Given the description of an element on the screen output the (x, y) to click on. 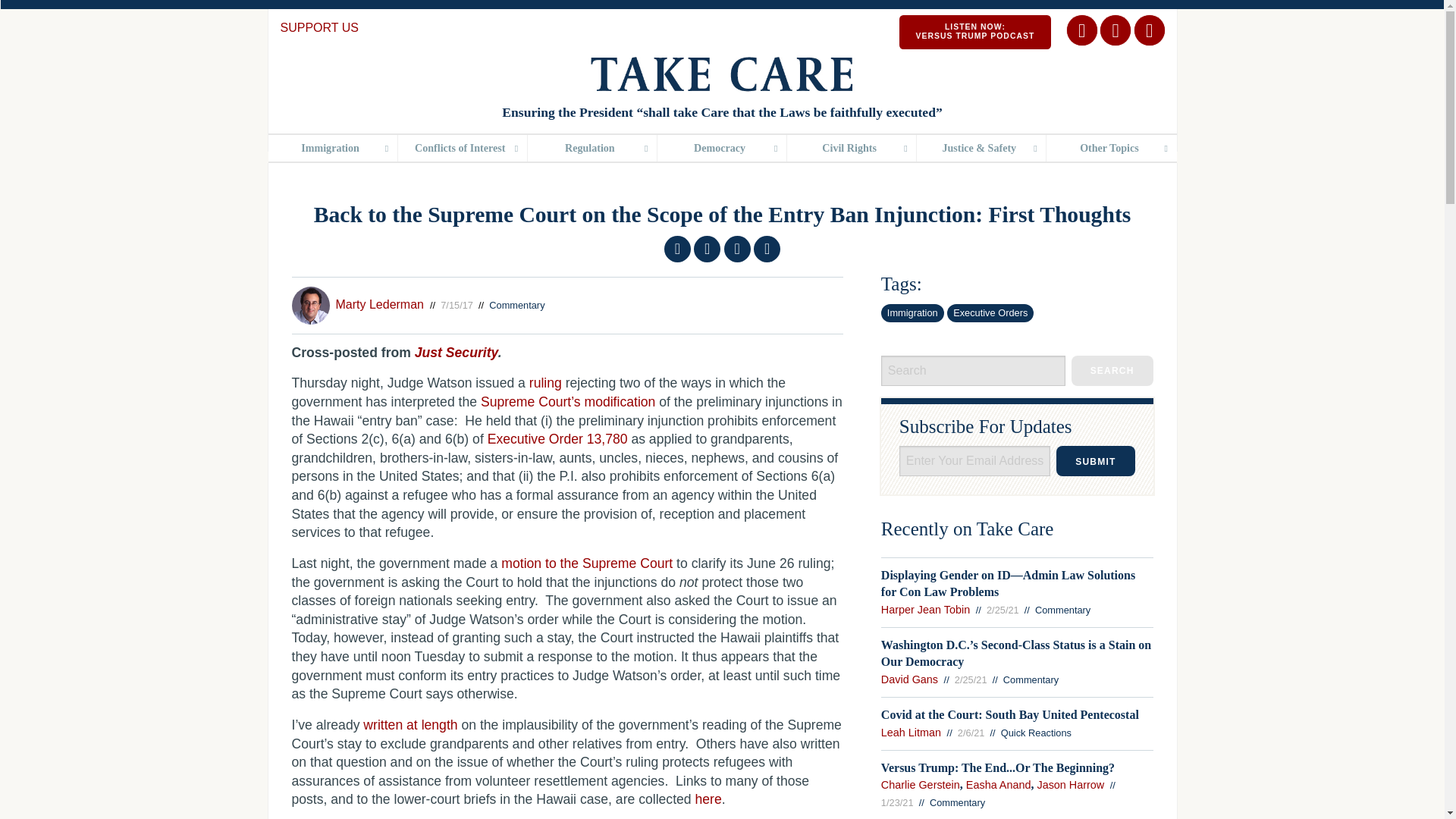
Civil Rights (851, 148)
Regulation (591, 148)
search (1112, 370)
Democracy (722, 148)
Immigration (332, 148)
SUPPORT US (319, 27)
Conflicts of Interest (462, 148)
